Given the description of an element on the screen output the (x, y) to click on. 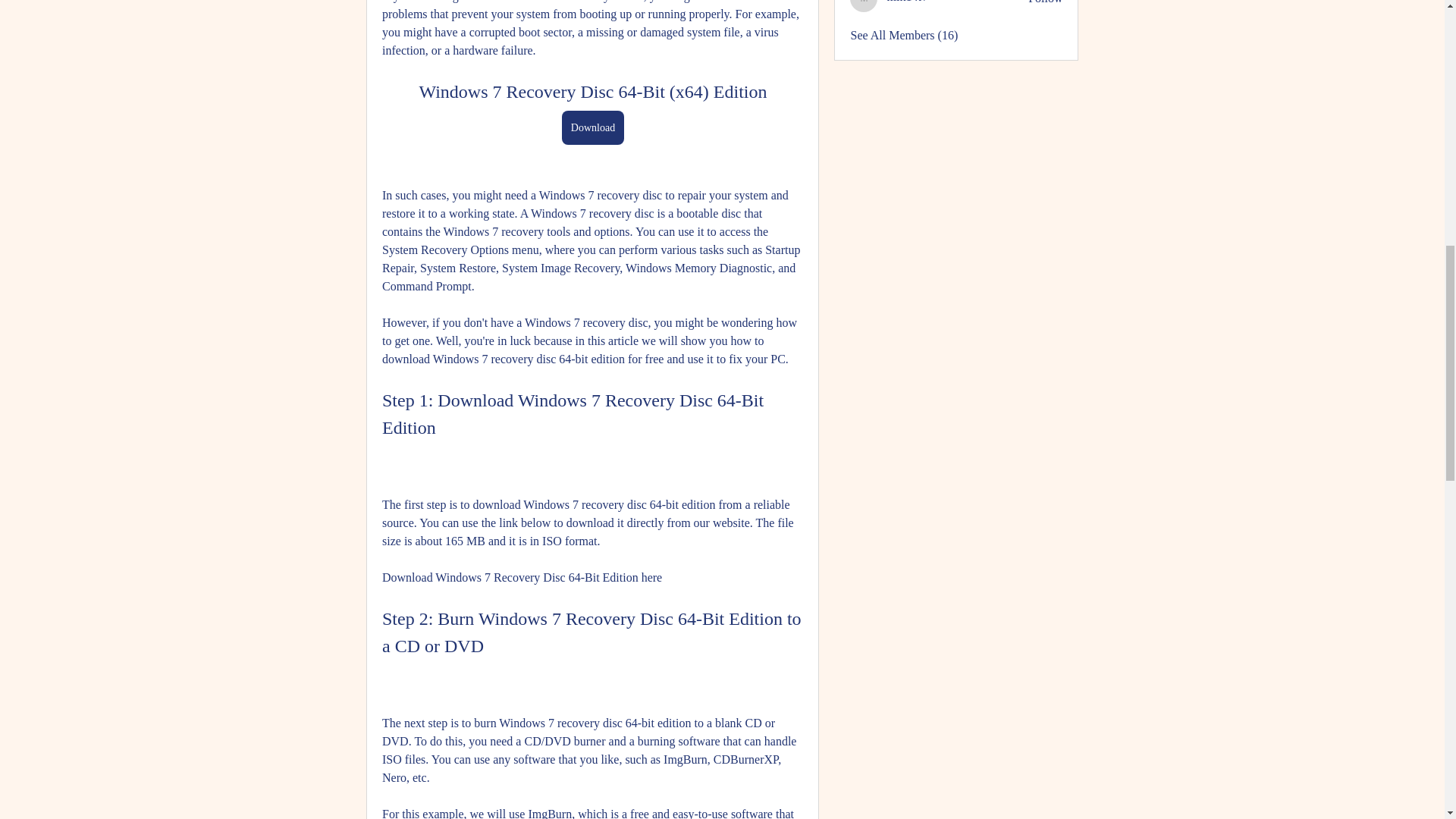
Download (591, 127)
mlk14tv (906, 2)
mlk14tv (863, 6)
Follow (1044, 3)
mlk14tv (906, 2)
